Given the description of an element on the screen output the (x, y) to click on. 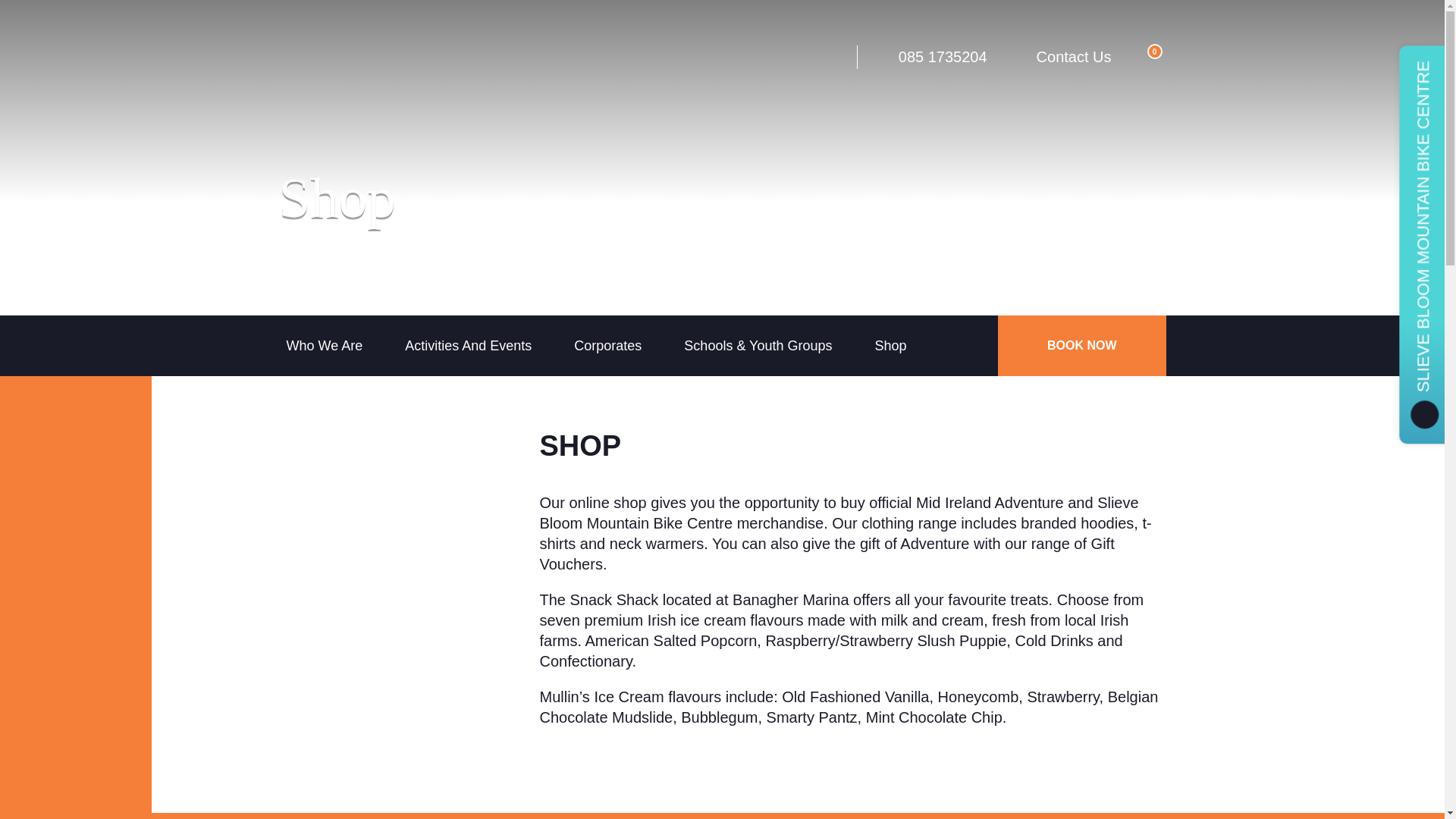
Who We Are (325, 345)
0 (1144, 56)
BOOK NOW (1081, 345)
Activities And Events (467, 345)
Contact Us (1061, 56)
Corporates (607, 345)
085 1735204 (928, 56)
